Given the description of an element on the screen output the (x, y) to click on. 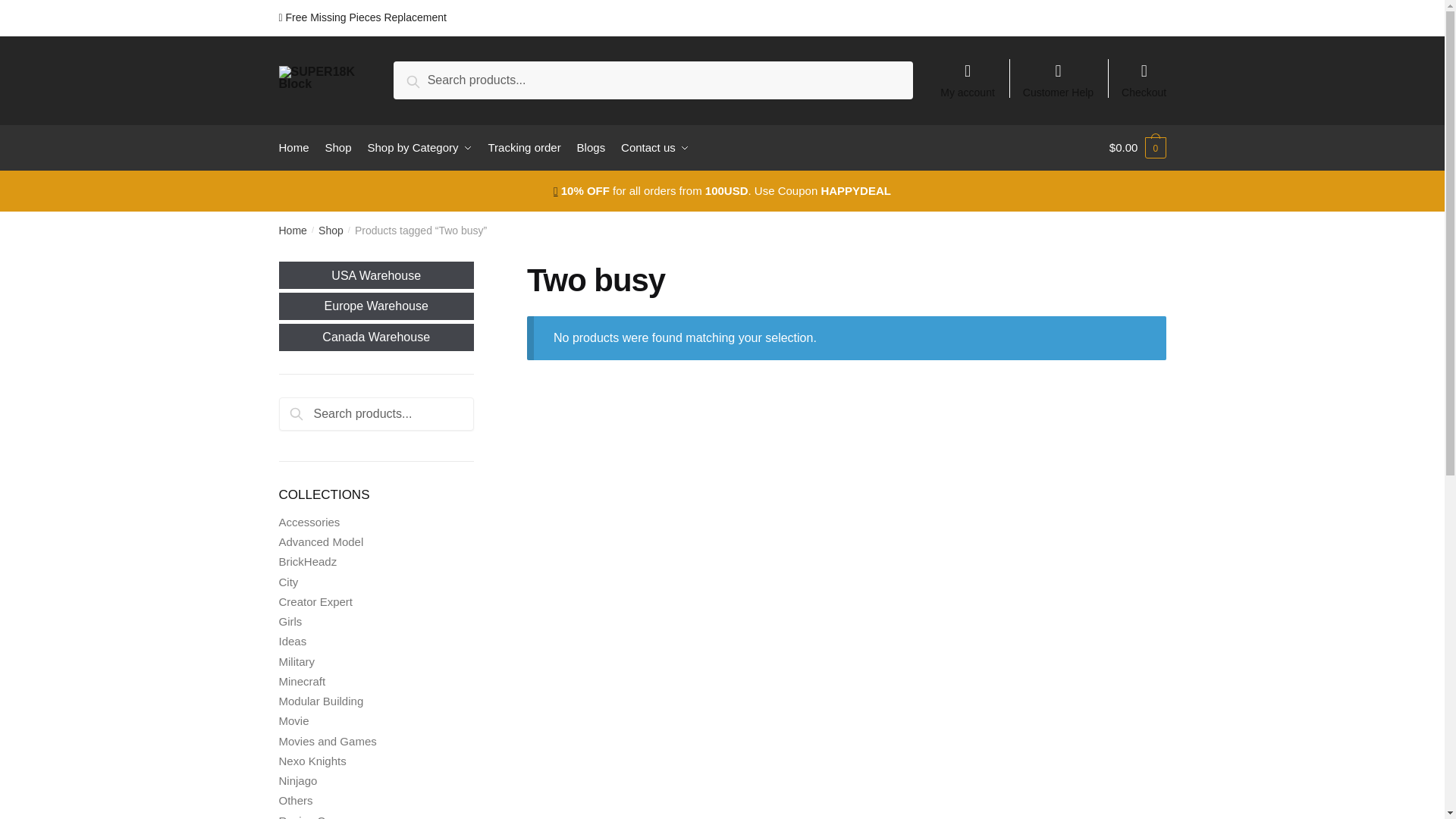
Tracking order (524, 147)
Customer Help (1058, 73)
Shop by Category (419, 147)
My account (967, 73)
Checkout (1144, 73)
Search (430, 78)
Blogs (590, 147)
Shop (338, 147)
View your shopping cart (1137, 147)
Contact us (653, 147)
